Given the description of an element on the screen output the (x, y) to click on. 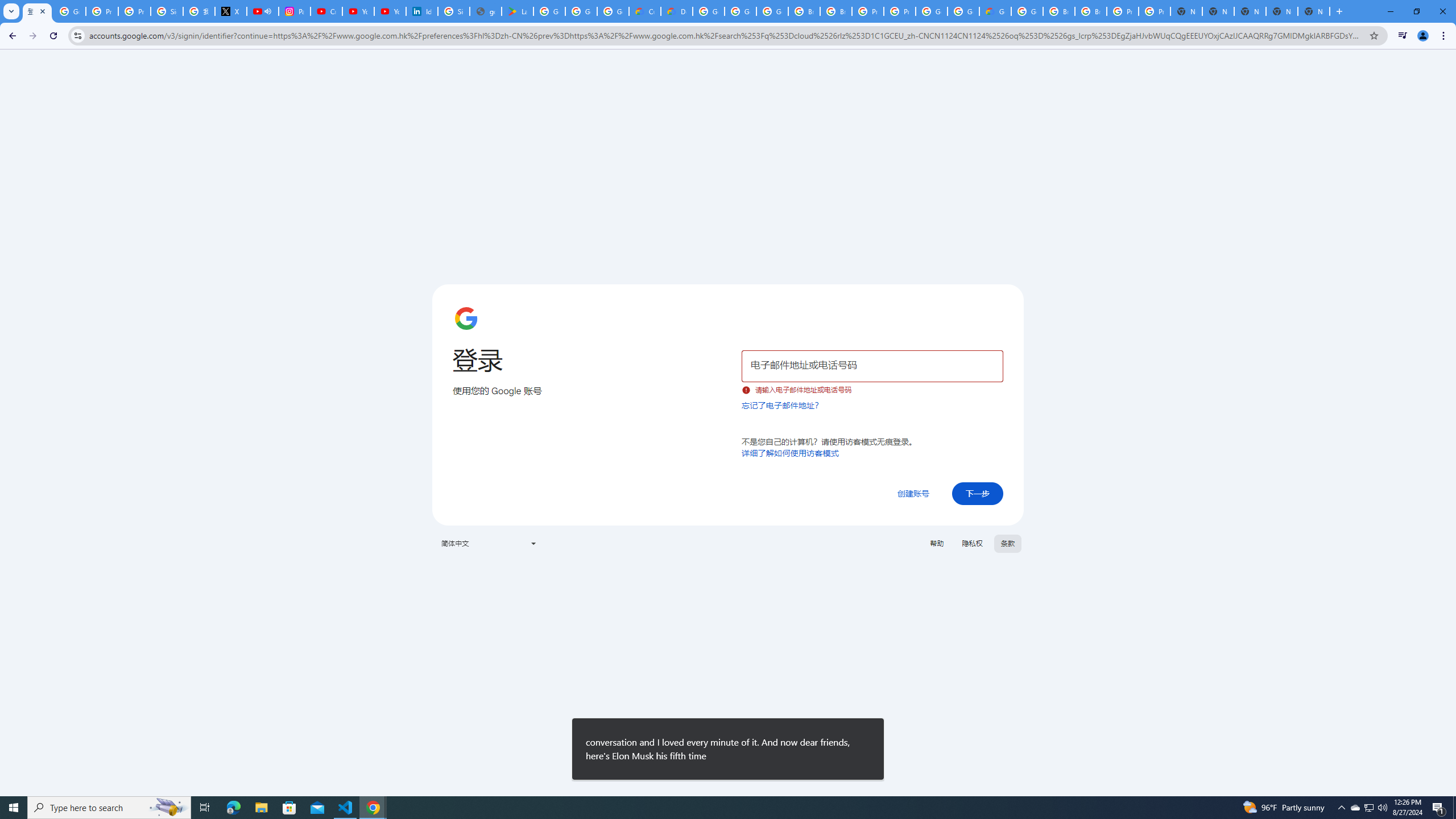
Google Cloud Platform (1027, 11)
Google Cloud Platform (931, 11)
Google Workspace - Specific Terms (613, 11)
Browse Chrome as a guest - Computer - Google Chrome Help (804, 11)
Browse Chrome as a guest - Computer - Google Chrome Help (1059, 11)
